Given the description of an element on the screen output the (x, y) to click on. 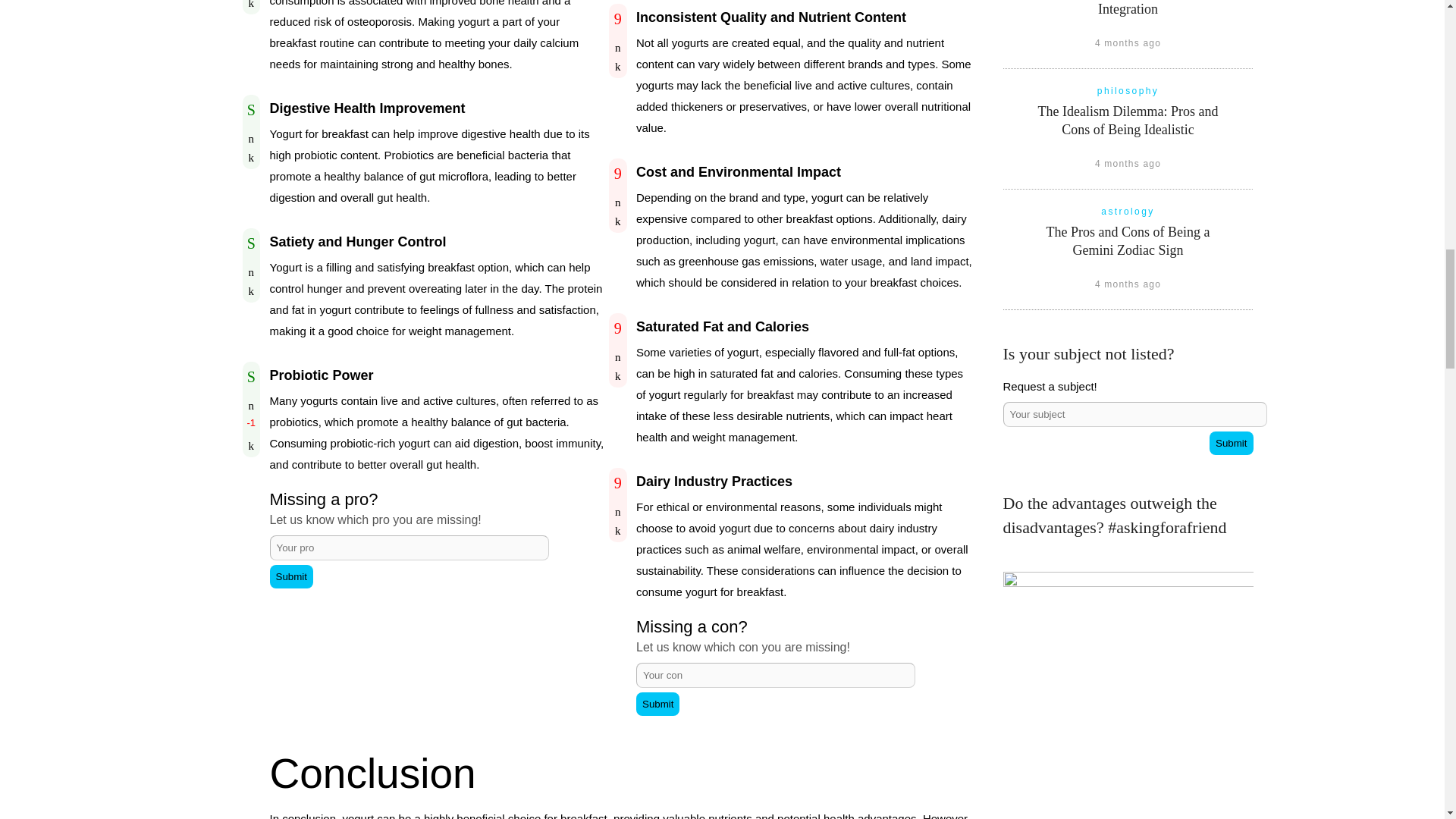
The Idealism Dilemma: Pros and Cons of Being Idealistic (1128, 120)
The Pros and Cons of Continuous Integration (1128, 8)
The Pros and Cons of Being a Gemini Zodiac Sign (1127, 240)
